Given the description of an element on the screen output the (x, y) to click on. 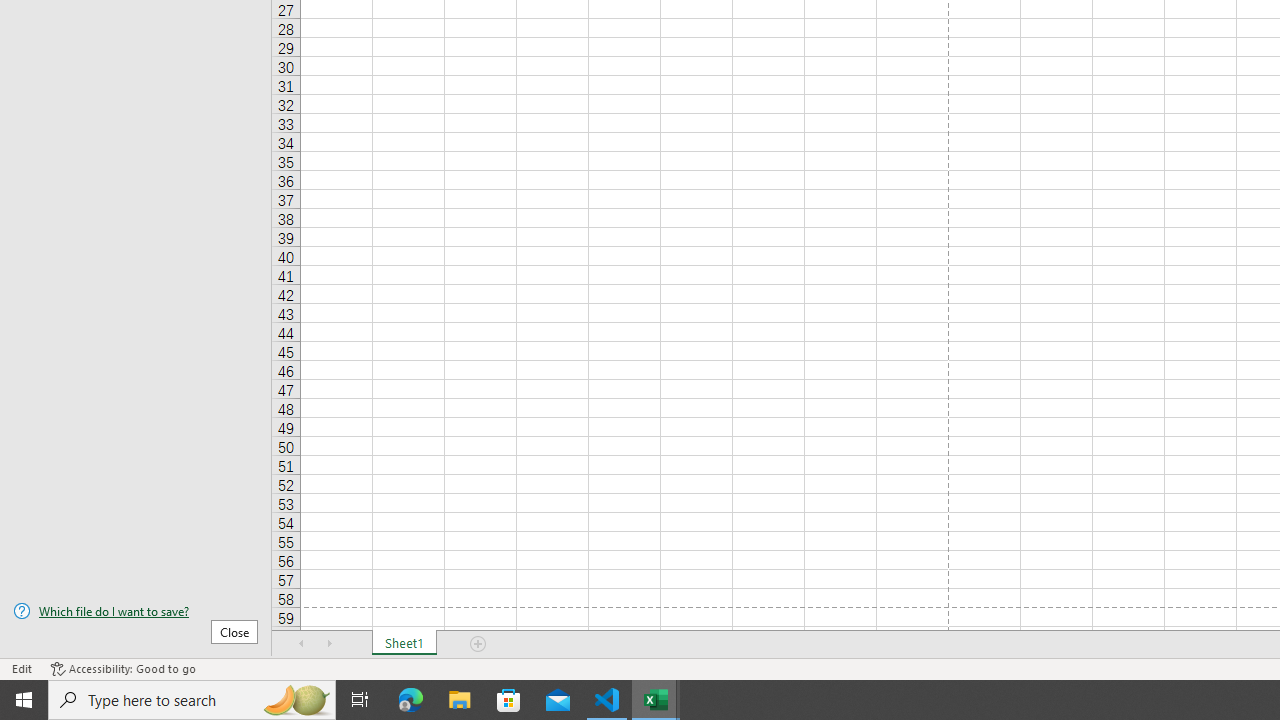
Accessibility Checker Accessibility: Good to go (123, 668)
Scroll Left (302, 644)
Sheet1 (404, 644)
Which file do I want to save? (136, 611)
Add Sheet (478, 644)
Scroll Right (330, 644)
Close (234, 631)
